Given the description of an element on the screen output the (x, y) to click on. 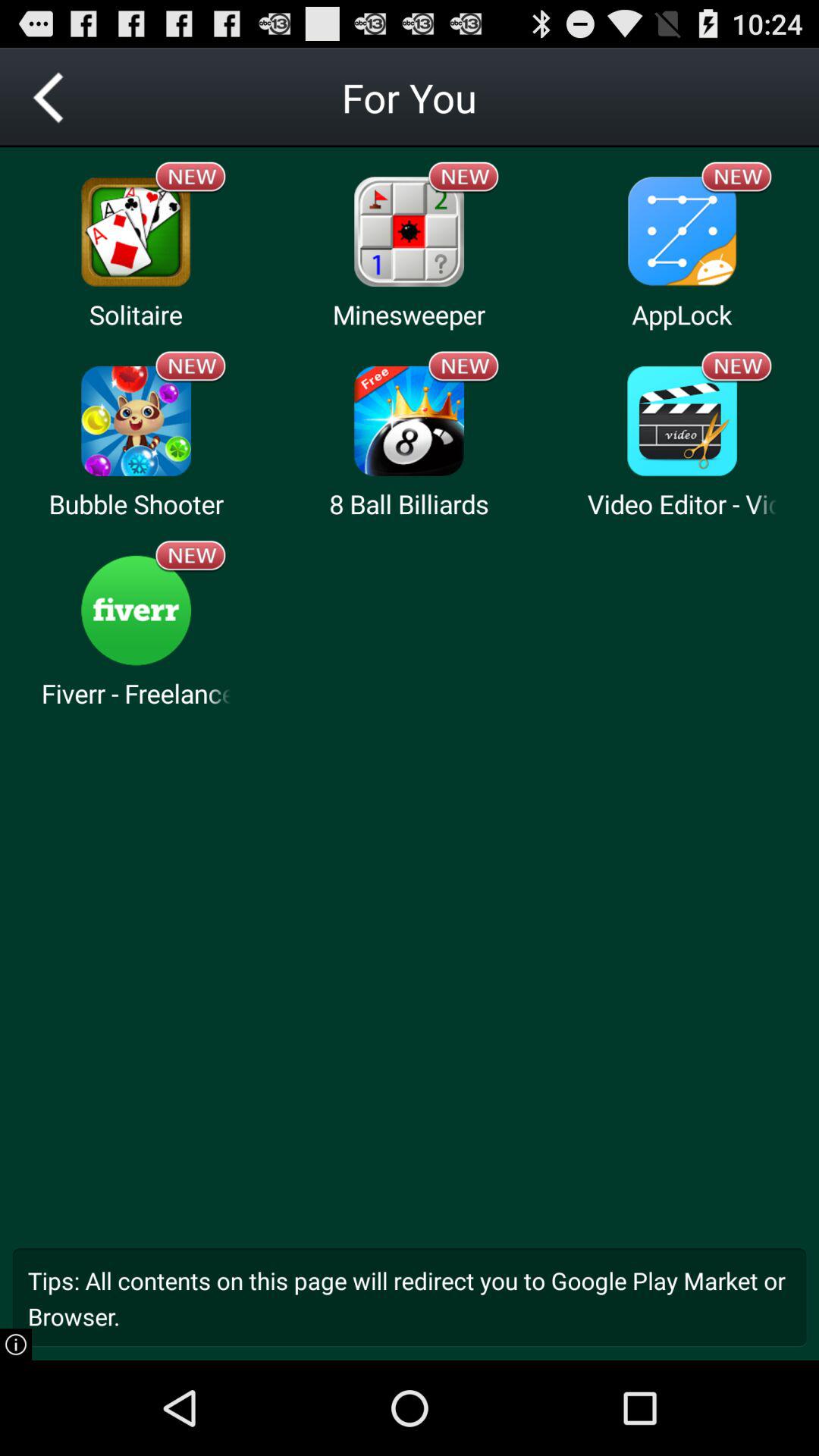
go to fiverr (136, 610)
